Given the description of an element on the screen output the (x, y) to click on. 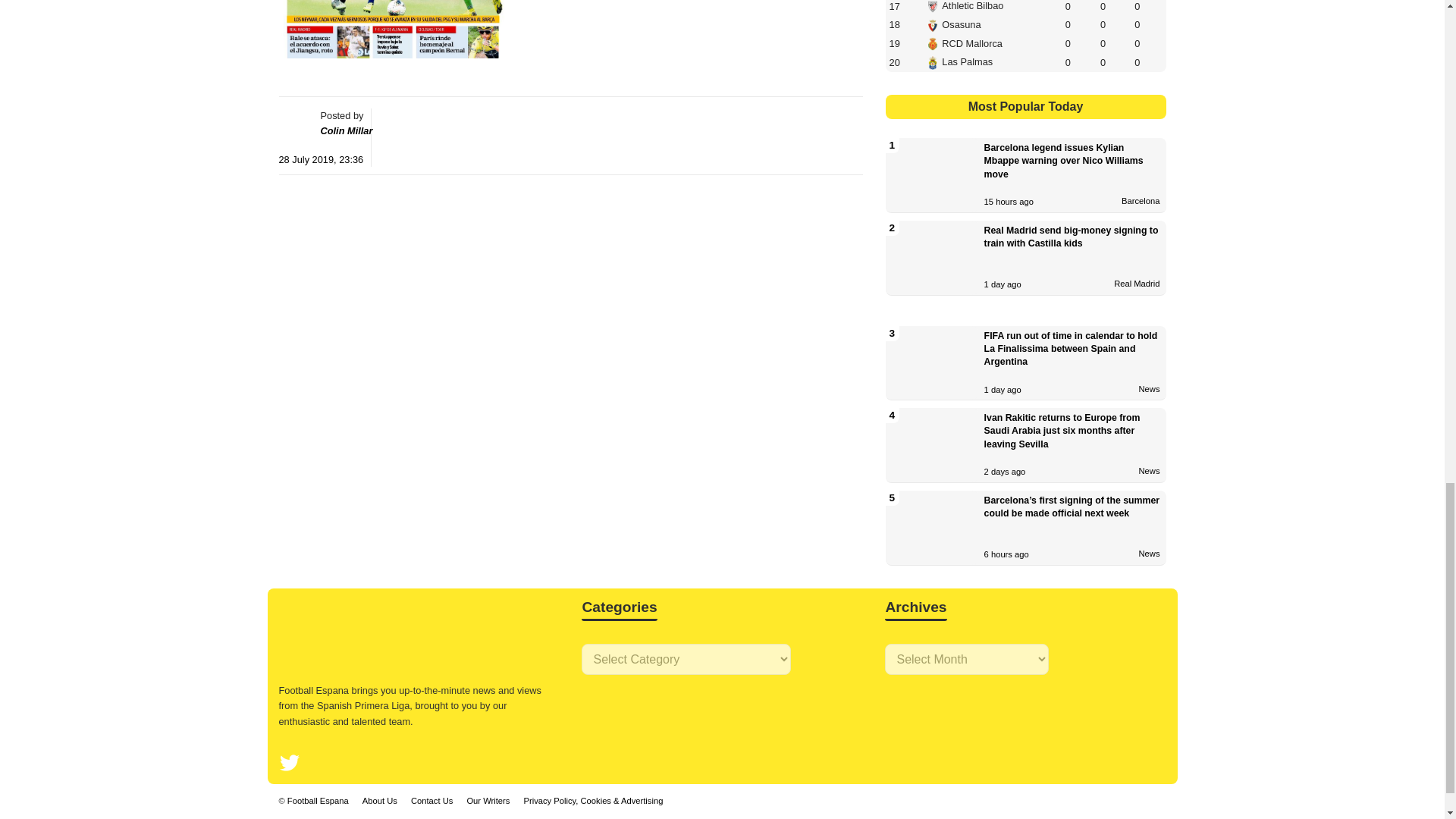
View more articles by Colin Millar (346, 130)
